Given the description of an element on the screen output the (x, y) to click on. 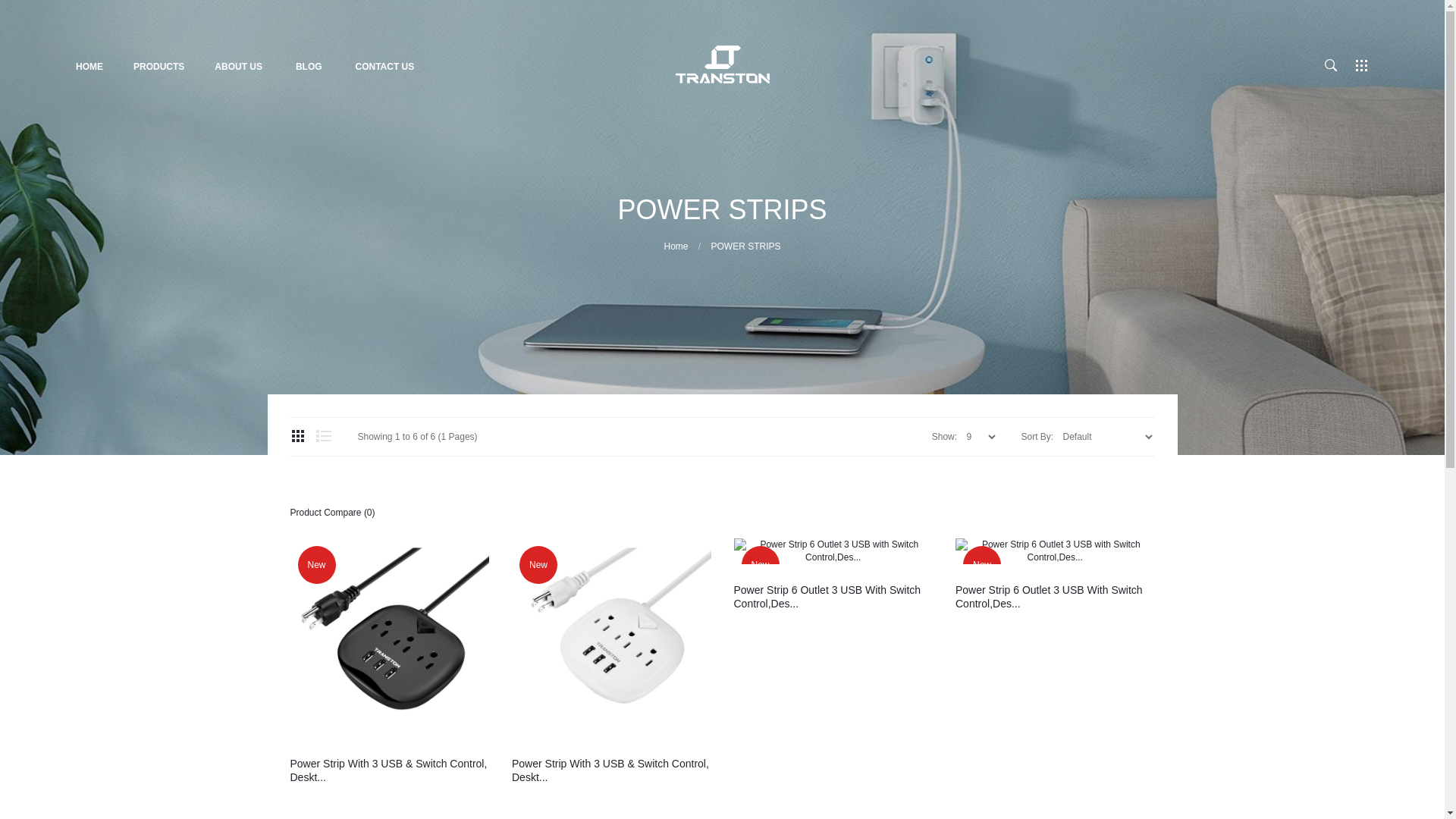
Power Strip 6 Outlet 3 USB with Switch Control,Des... Element type: hover (833, 551)
Power Strip with 3 USB & Switch Control, Deskt... Element type: hover (611, 637)
Power Strip 6 Outlet 3 USB With Switch Control,Des... Element type: text (1054, 596)
PRODUCTS Element type: text (158, 66)
Product Compare (0) Element type: text (331, 512)
ABOUT US Element type: text (238, 66)
BLOG Element type: text (308, 66)
HOME Element type: text (94, 66)
Power Strip 6 Outlet 3 USB with Switch Control,Des... Element type: hover (1054, 551)
Power Strip 6 Outlet 3 USB With Switch Control,Des... Element type: text (833, 596)
Transton Element type: hover (721, 64)
Power Strip With 3 USB & Switch Control, Deskt... Element type: text (611, 770)
Home Element type: text (675, 246)
Power Strip with 3 USB & Switch Control, Deskt... Element type: hover (389, 637)
CONTACT US Element type: text (384, 66)
Power Strip With 3 USB & Switch Control, Deskt... Element type: text (389, 770)
POWER STRIPS Element type: text (746, 246)
